Given the description of an element on the screen output the (x, y) to click on. 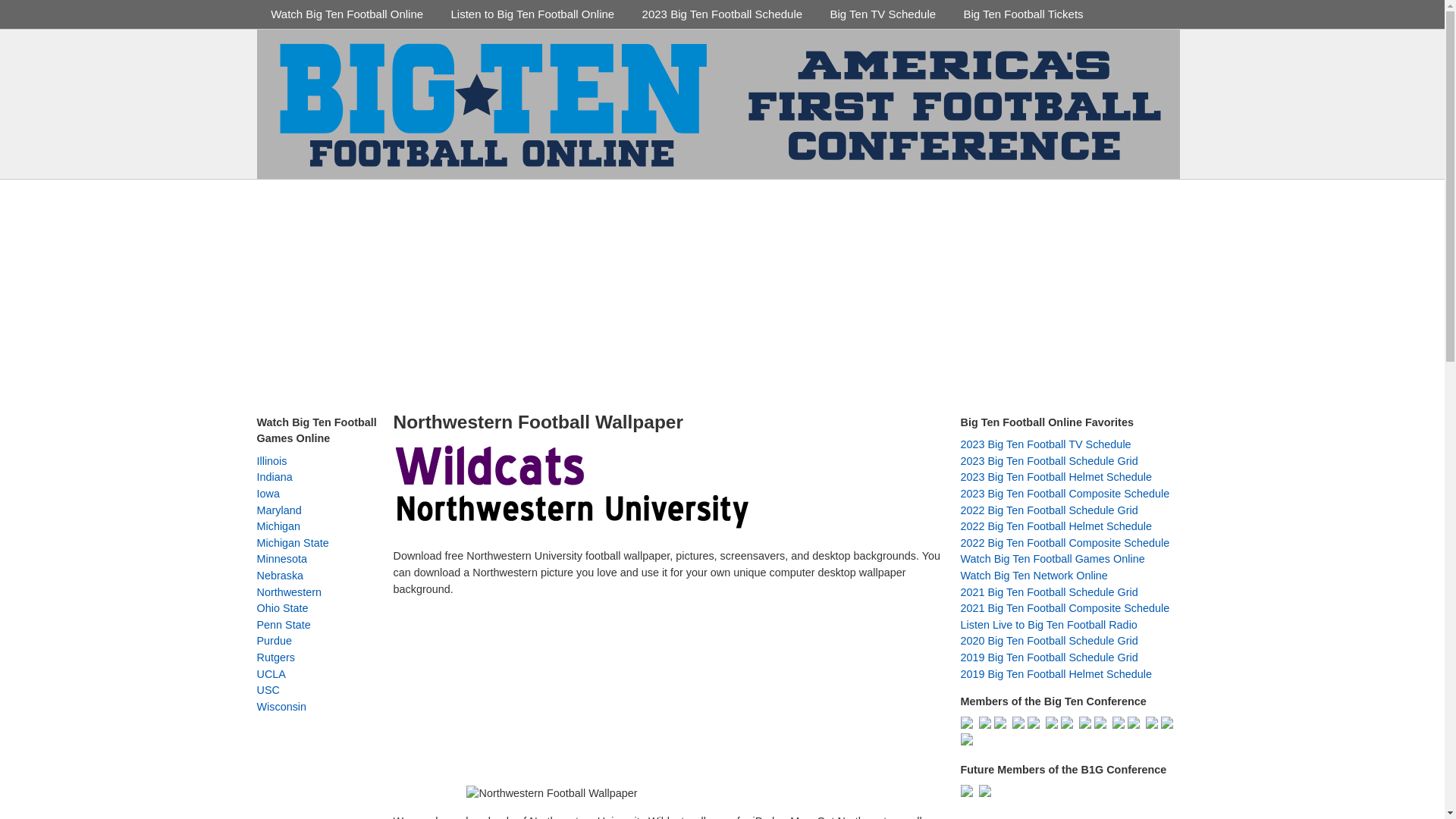
Penn State (283, 624)
2023 Big Ten Football Composite Schedule (1064, 493)
Nebraska (279, 575)
Rutgers (275, 657)
Michigan (277, 526)
Watch Big Ten Football Games Online (1051, 558)
2023 Big Ten Football Helmet Schedule (1055, 476)
2023 Big Ten Football Schedule Grid (1048, 460)
Northwestern Wildcats Football Online (575, 486)
Illinois (271, 460)
Permalink to Northwestern Football Wallpaper (537, 421)
Listen to Big Ten Football Online (531, 14)
Iowa (267, 493)
Big Ten Football Online (371, 196)
Listen Live to Big Ten Football Radio (1048, 624)
